Given the description of an element on the screen output the (x, y) to click on. 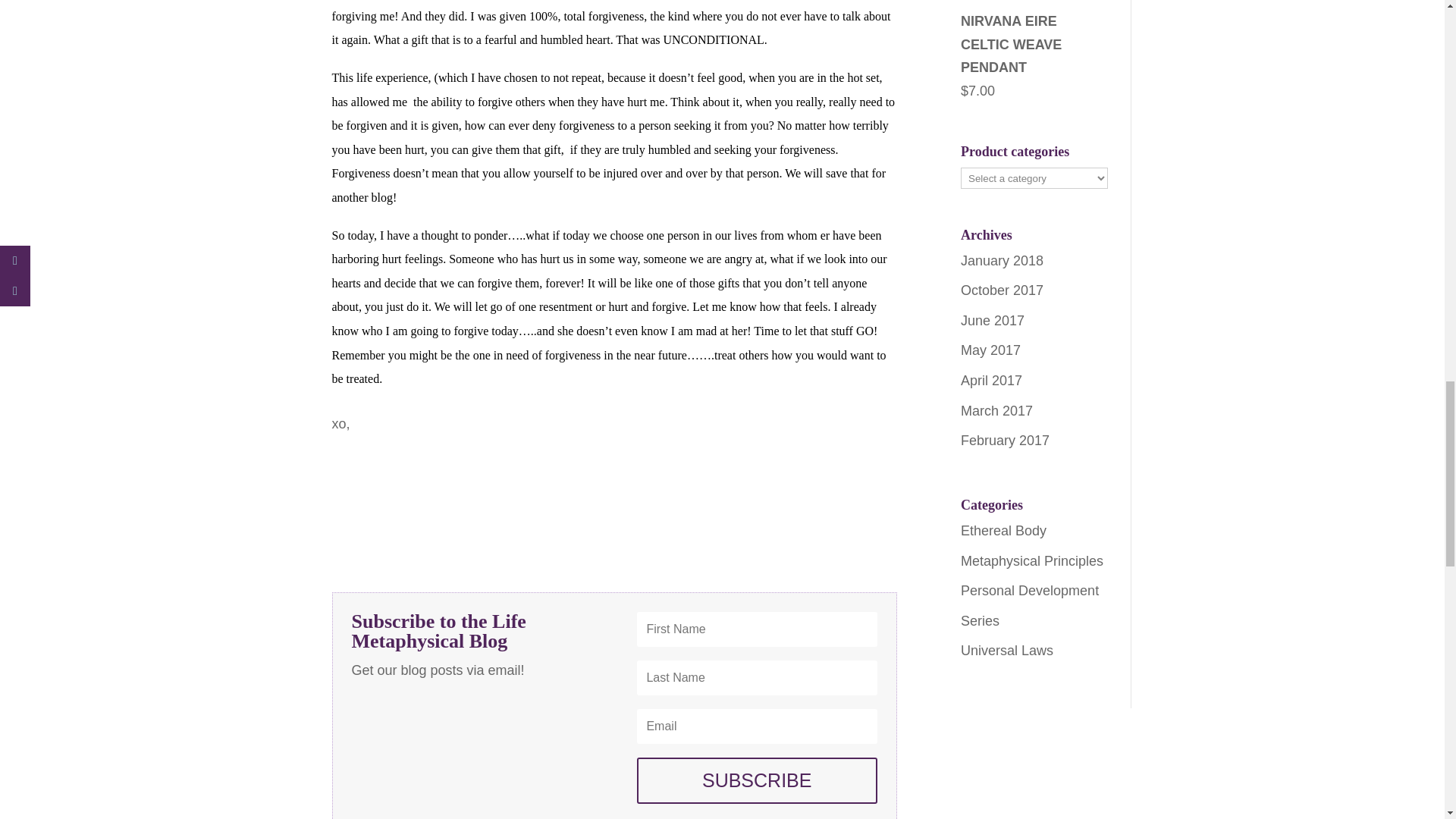
SUBSCRIBE (757, 780)
